Given the description of an element on the screen output the (x, y) to click on. 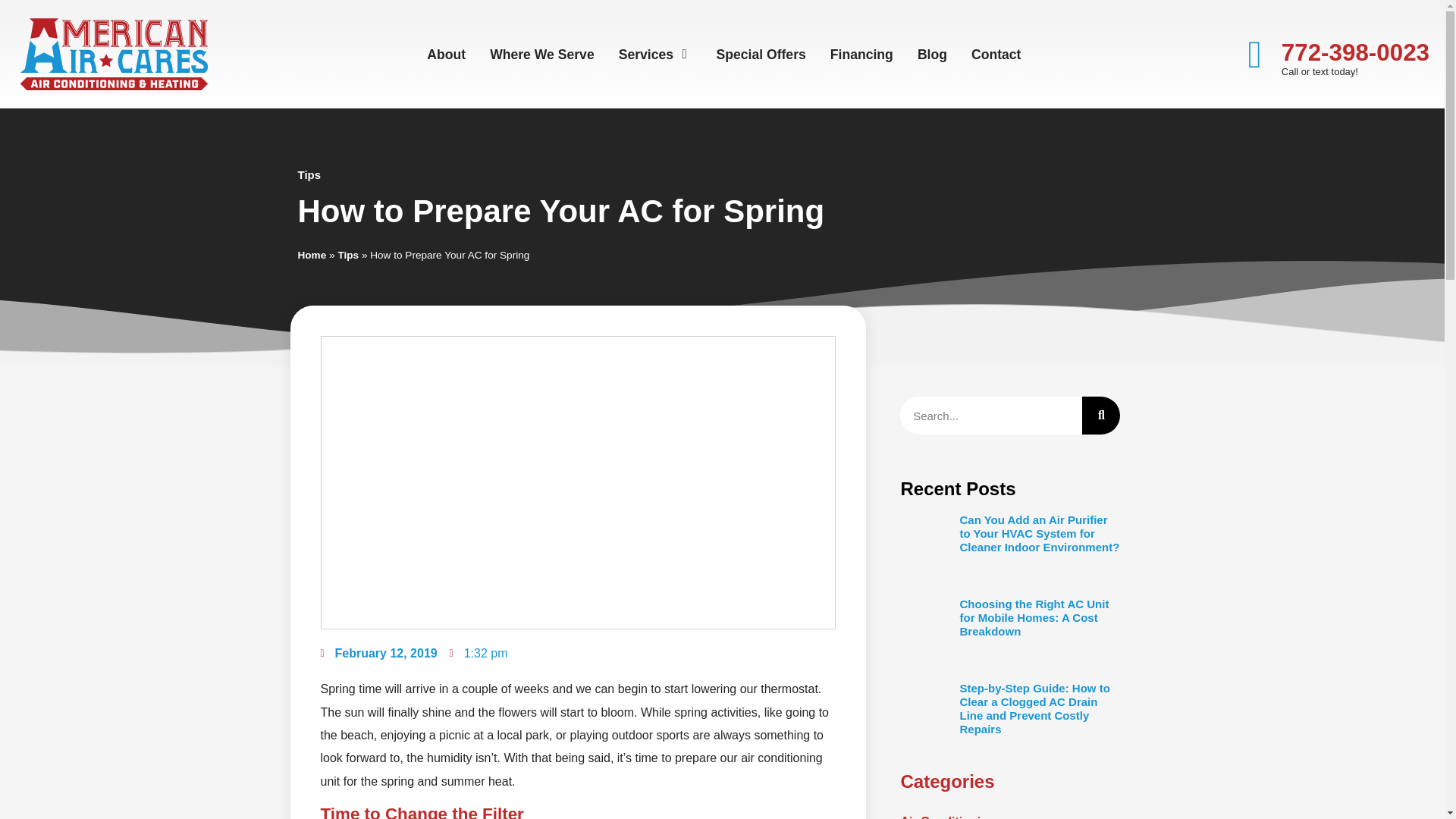
February 12, 2019 (378, 653)
Home (311, 255)
Tips (347, 255)
Blog (932, 54)
Tips (308, 174)
Where We Serve (541, 54)
Call american Air Cares todays (1355, 52)
Special Offers (760, 54)
Financing (861, 54)
Call american Air Cares todays (1255, 54)
